Given the description of an element on the screen output the (x, y) to click on. 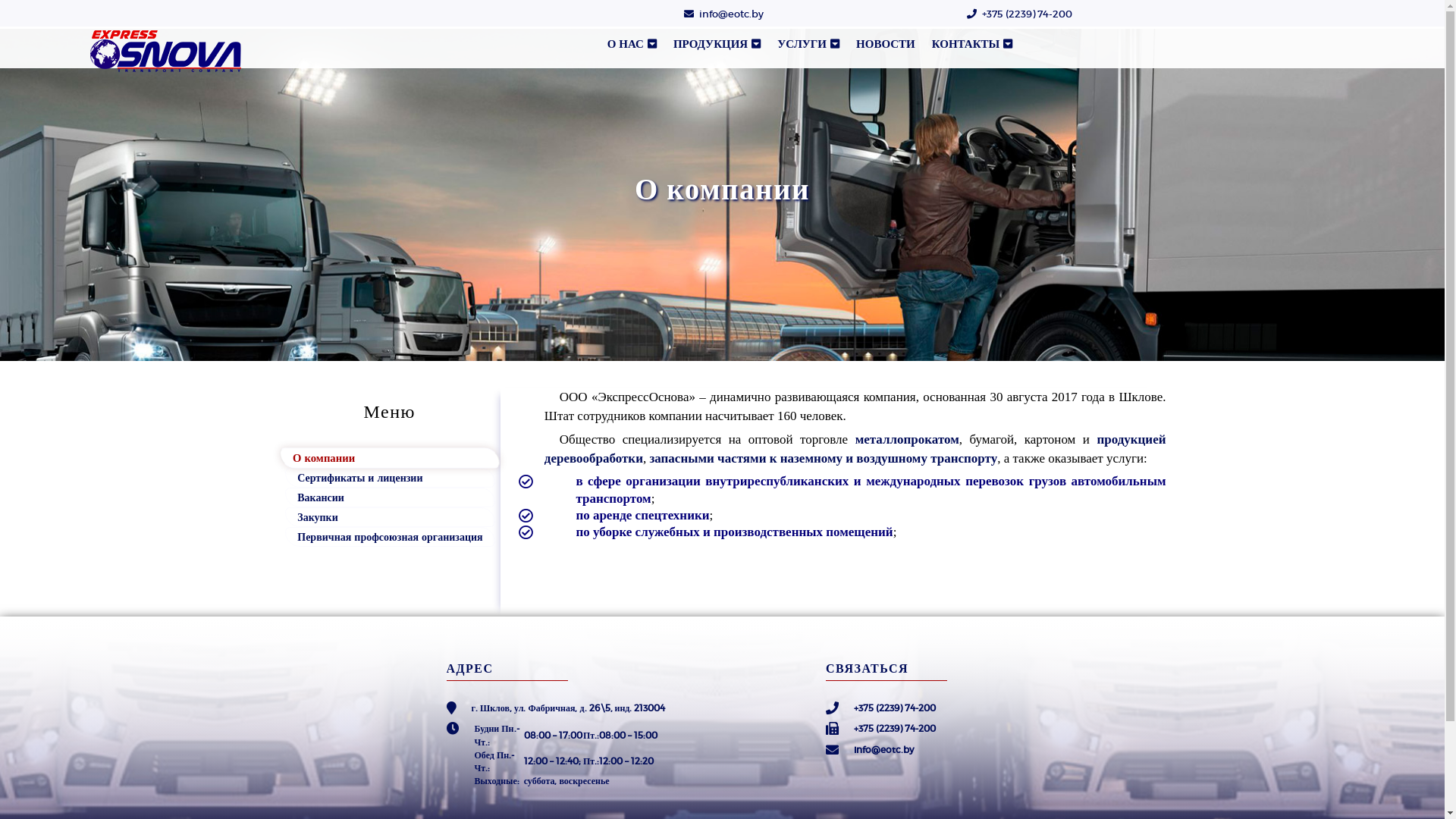
info@eotc.by Element type: text (731, 13)
+375 (2239) 74-200 Element type: text (894, 727)
+375 (2239) 74-200 Element type: text (1027, 13)
+375 (2239) 74-200 Element type: text (894, 707)
info@eotc.by Element type: text (883, 749)
